Given the description of an element on the screen output the (x, y) to click on. 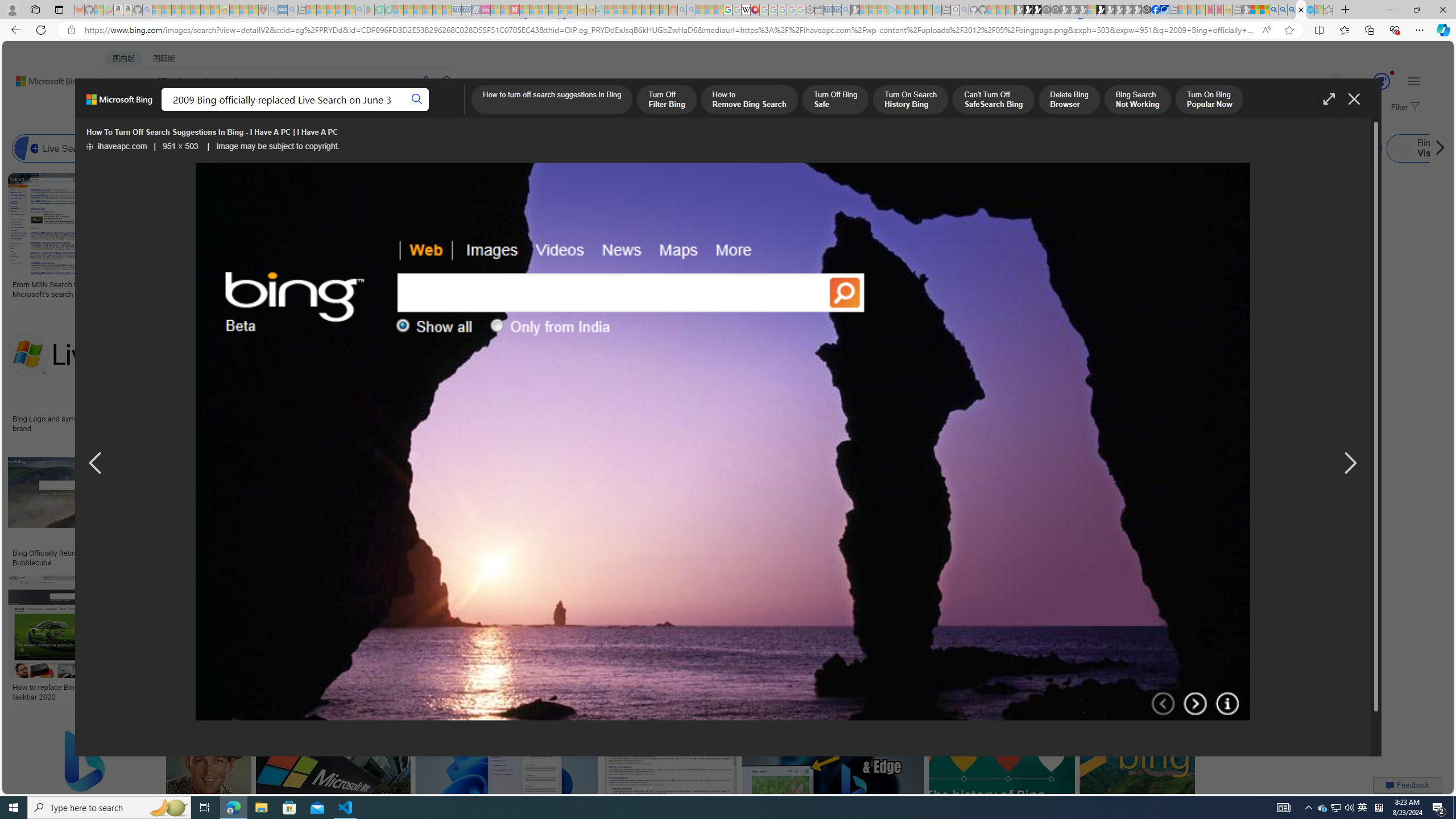
The Weather Channel - MSN - Sleeping (175, 9)
Trusted Community Engagement and Contributions | Guidelines (524, 9)
Delete Bing Browser (1068, 100)
github - Search - Sleeping (964, 9)
MSNBC - MSN - Sleeping (608, 9)
Search using voice (426, 80)
Microsoft Bing Search | EnfewSave (1162, 371)
Pets - MSN - Sleeping (340, 9)
Bing (2009) (RARE/FAKE) - YouTube (942, 552)
Play Zoo Boom in your browser | Games from Microsoft Start (1027, 9)
Microsoft Live Logo (419, 284)
